Given the description of an element on the screen output the (x, y) to click on. 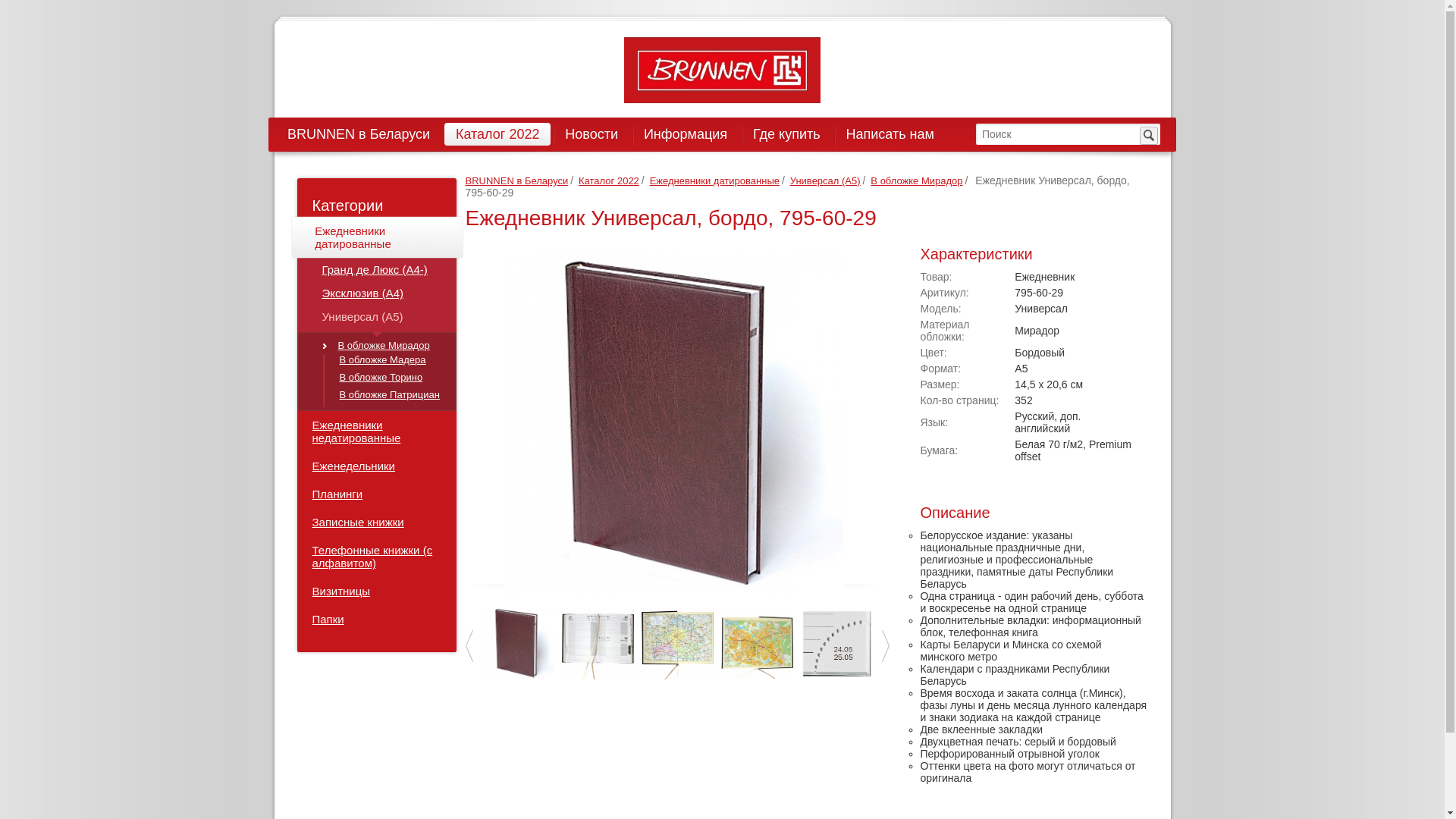
Next Element type: text (884, 645)
Prev Element type: text (469, 645)
795-60-29 Element type: hover (518, 643)
